Given the description of an element on the screen output the (x, y) to click on. 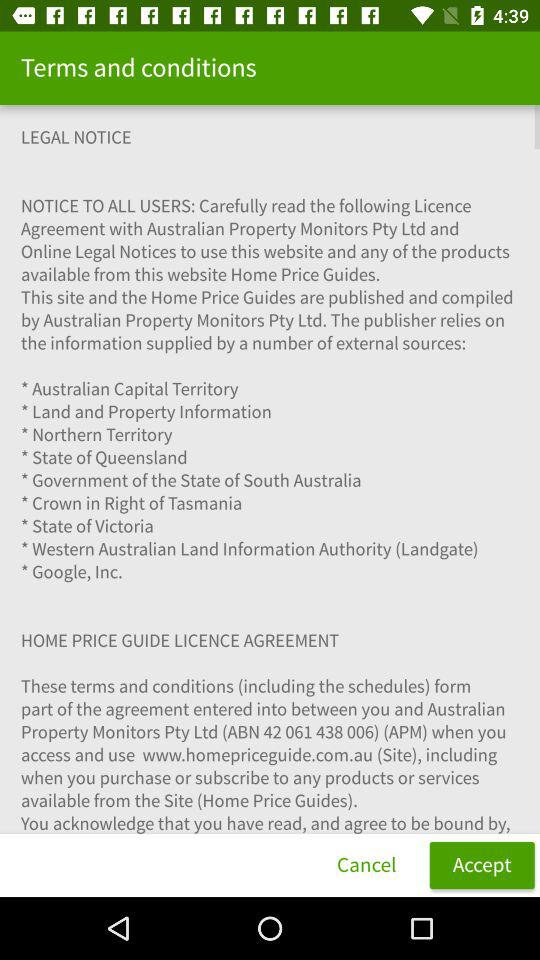
turn on item next to the accept item (366, 864)
